Given the description of an element on the screen output the (x, y) to click on. 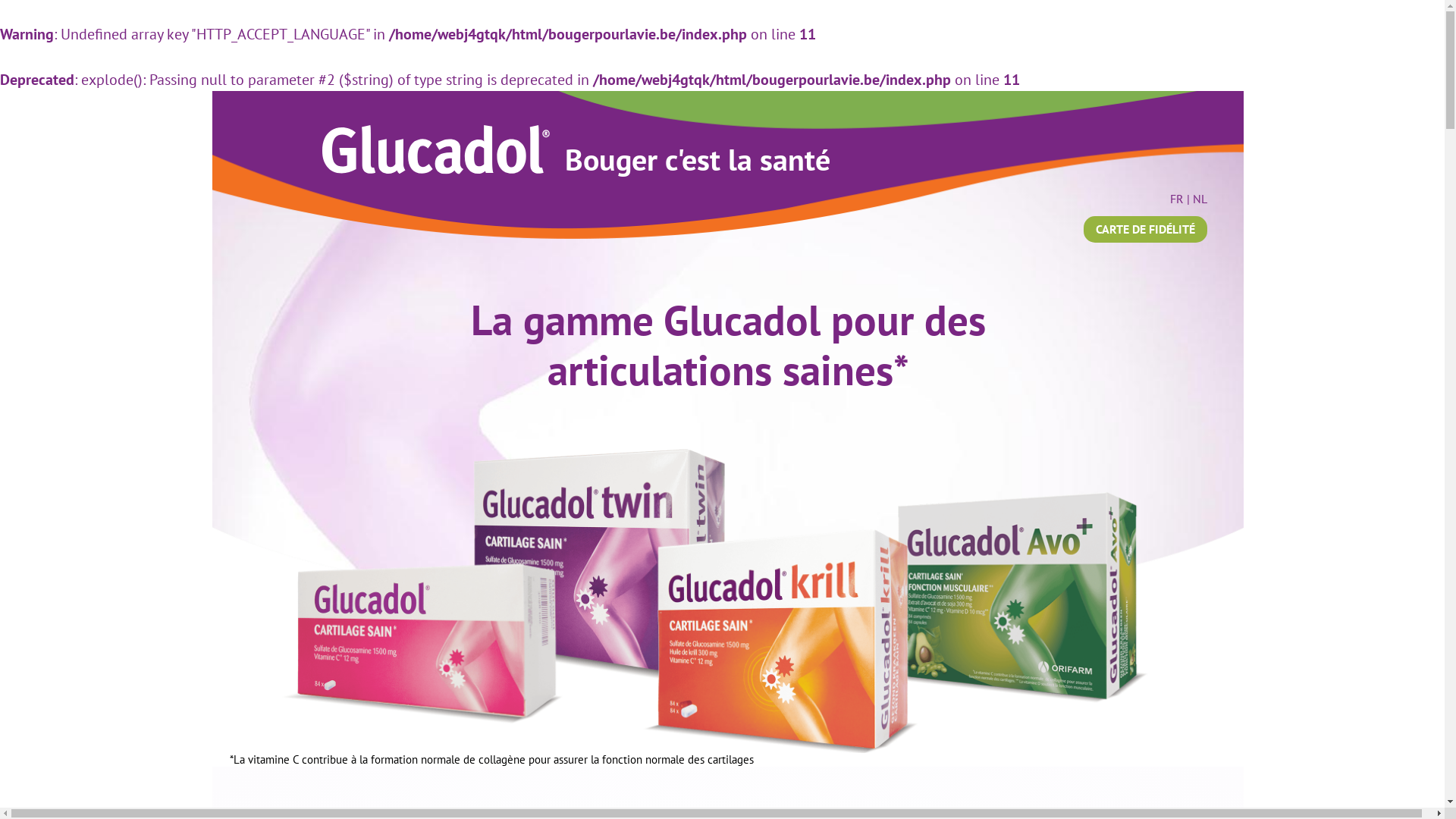
NL Element type: text (1199, 198)
FR Element type: text (1176, 198)
